Given the description of an element on the screen output the (x, y) to click on. 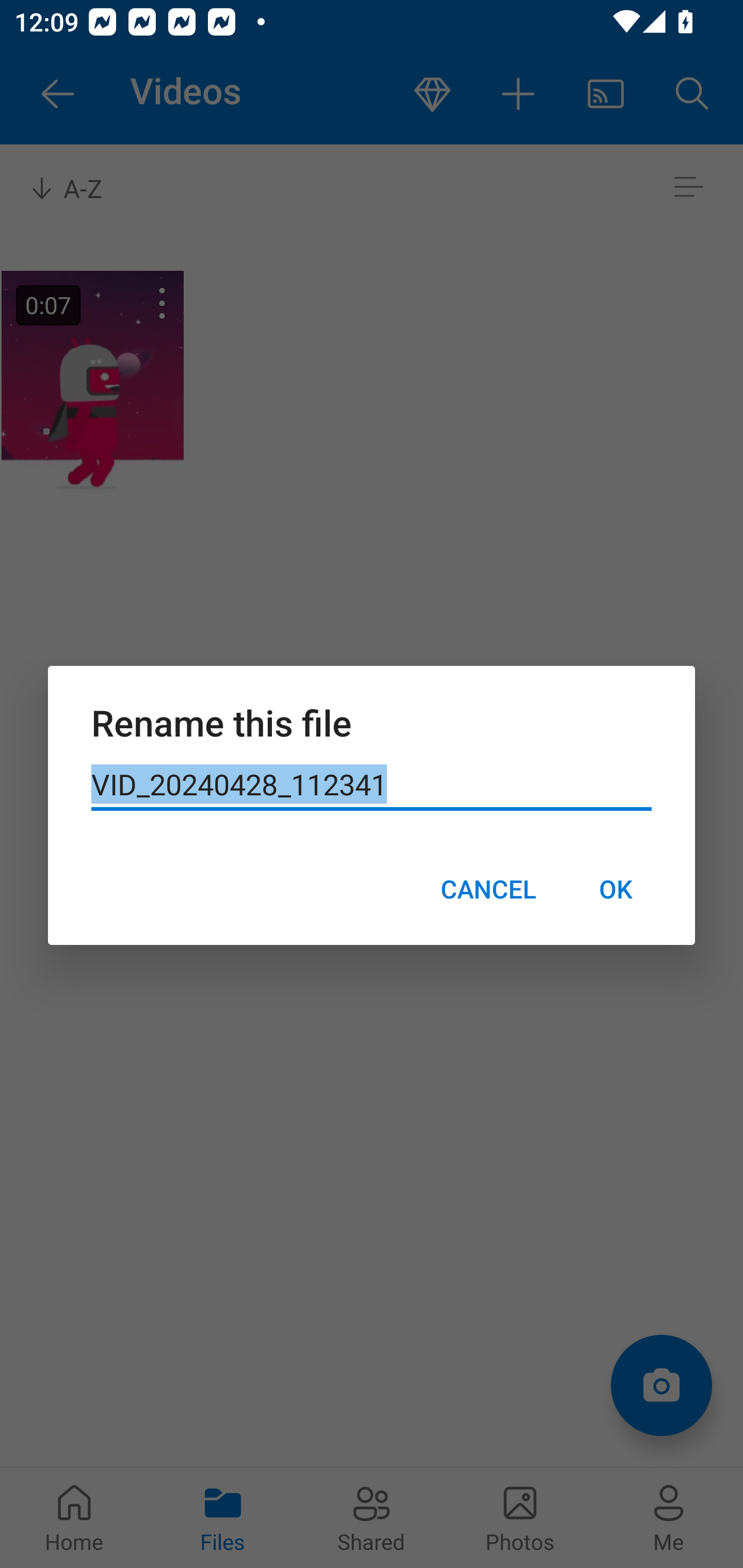
VID_20240428_112341 (371, 784)
CANCEL (488, 888)
OK (615, 888)
